Given the description of an element on the screen output the (x, y) to click on. 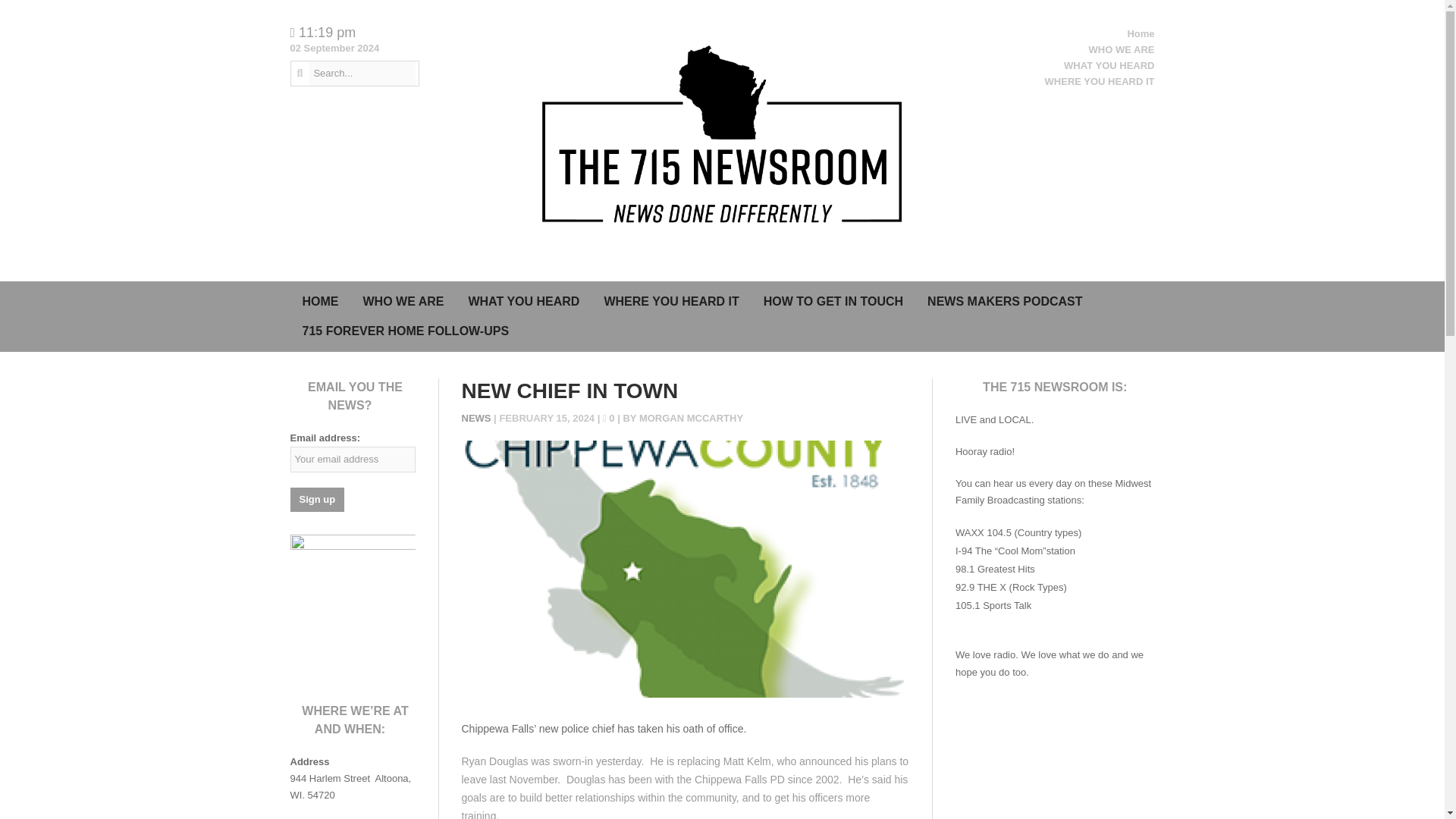
Sign up (316, 499)
HOW TO GET IN TOUCH (833, 301)
FEBRUARY 15, 2024 (547, 418)
HOME (319, 301)
0 (609, 418)
WHO WE ARE (1121, 49)
WHAT YOU HEARD (1109, 65)
Sign up (316, 499)
NEWS MAKERS PODCAST (1004, 301)
WHAT YOU HEARD (523, 301)
